Given the description of an element on the screen output the (x, y) to click on. 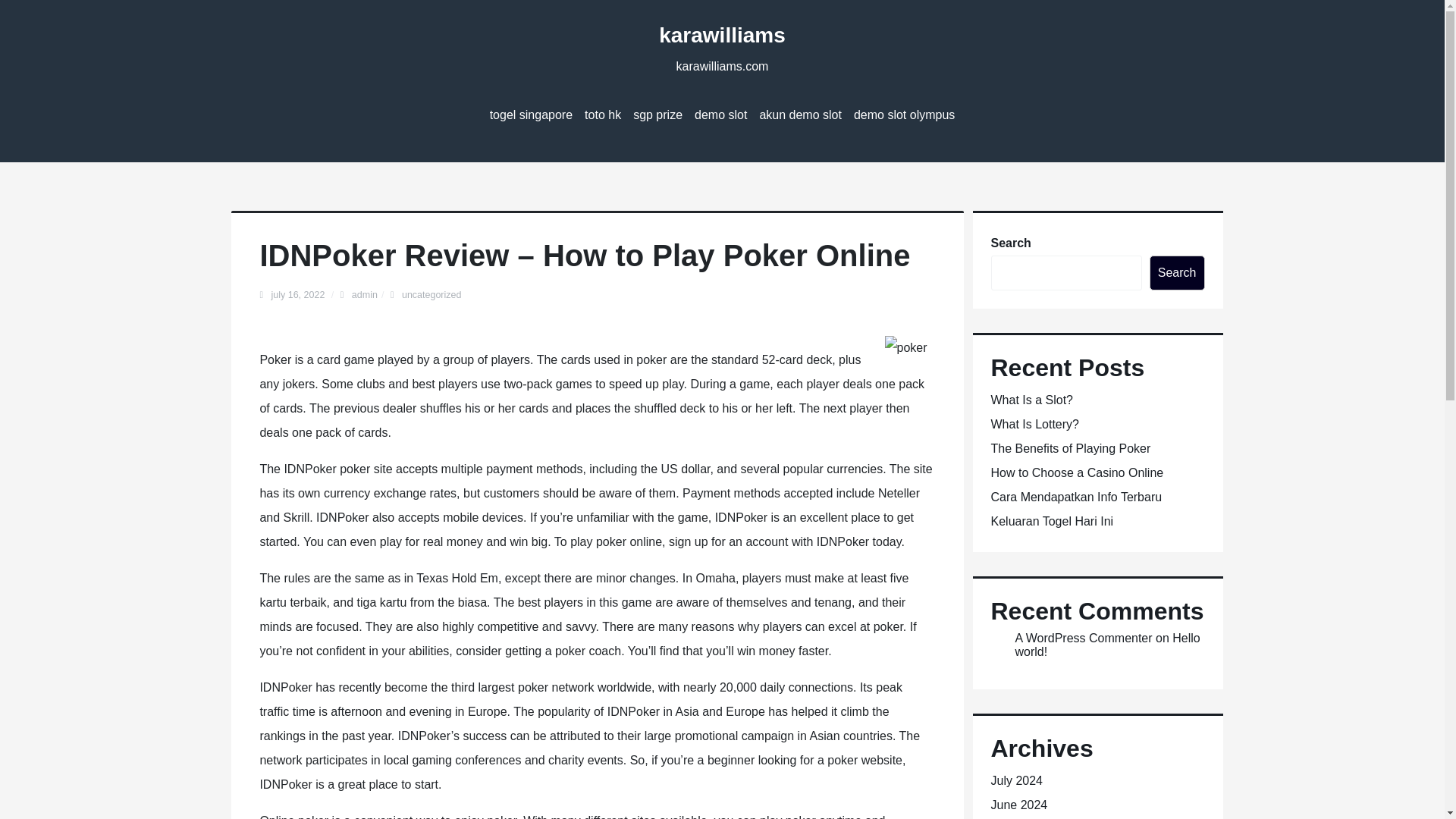
sgp prize (657, 115)
Search (1177, 272)
How to Choose a Casino Online (1076, 472)
toto hk (602, 115)
uncategorized (431, 294)
demo slot (720, 115)
akun demo slot (799, 115)
sgp prize (657, 115)
demo slot (720, 115)
What Is Lottery? (1034, 423)
akun demo slot (799, 115)
togel singapore (530, 115)
Cara Mendapatkan Info Terbaru Keluaran Togel Hari Ini (1075, 508)
toto hk (602, 115)
admin (364, 294)
